Given the description of an element on the screen output the (x, y) to click on. 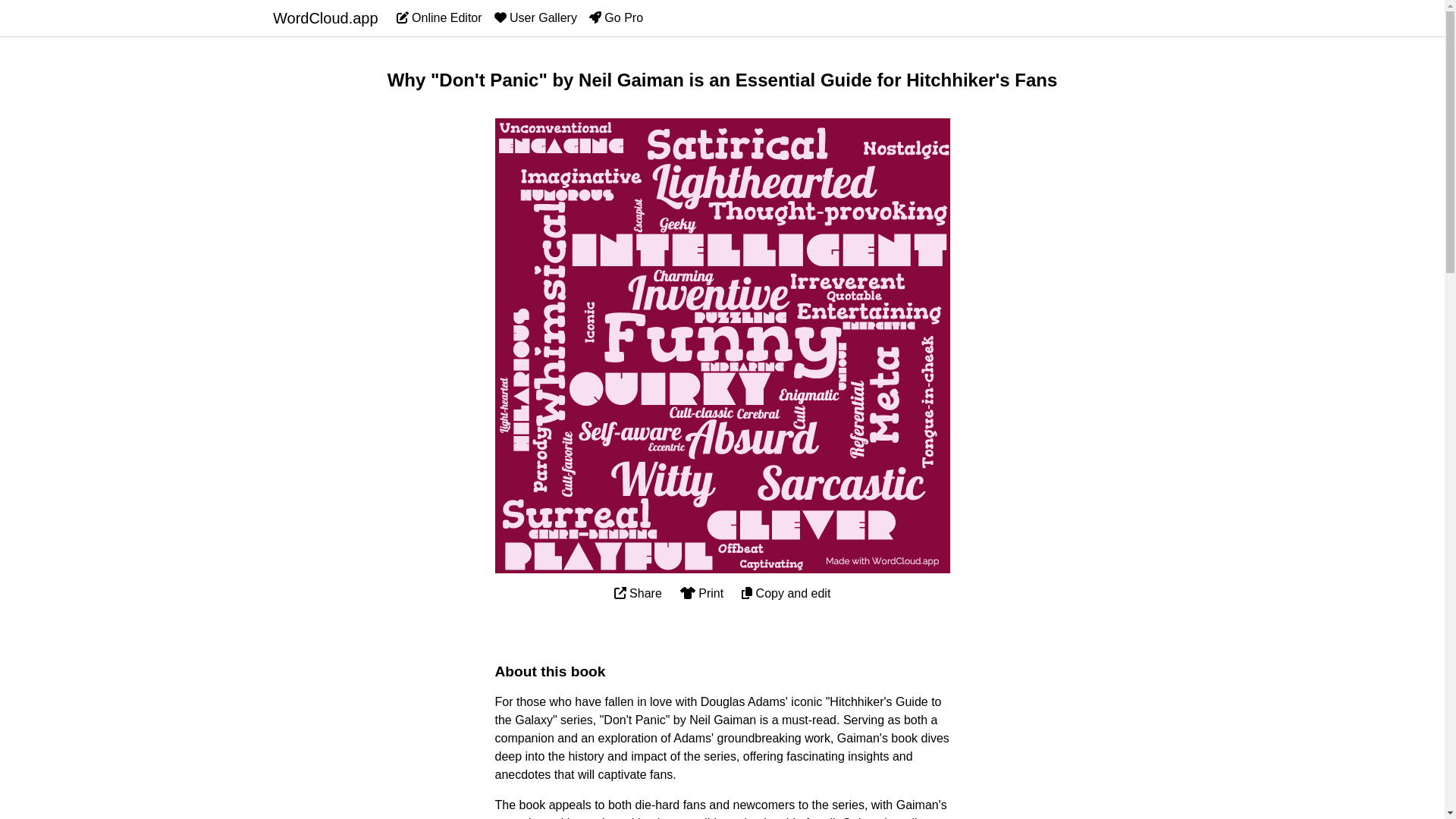
Share (638, 593)
Copy and edit (785, 593)
Home (325, 17)
User Gallery (535, 17)
Go Pro (616, 17)
Dashboard (438, 17)
WordCloud.app (325, 17)
Explore User-Created Word Clouds (535, 17)
Online Editor (438, 17)
Print (701, 593)
